Given the description of an element on the screen output the (x, y) to click on. 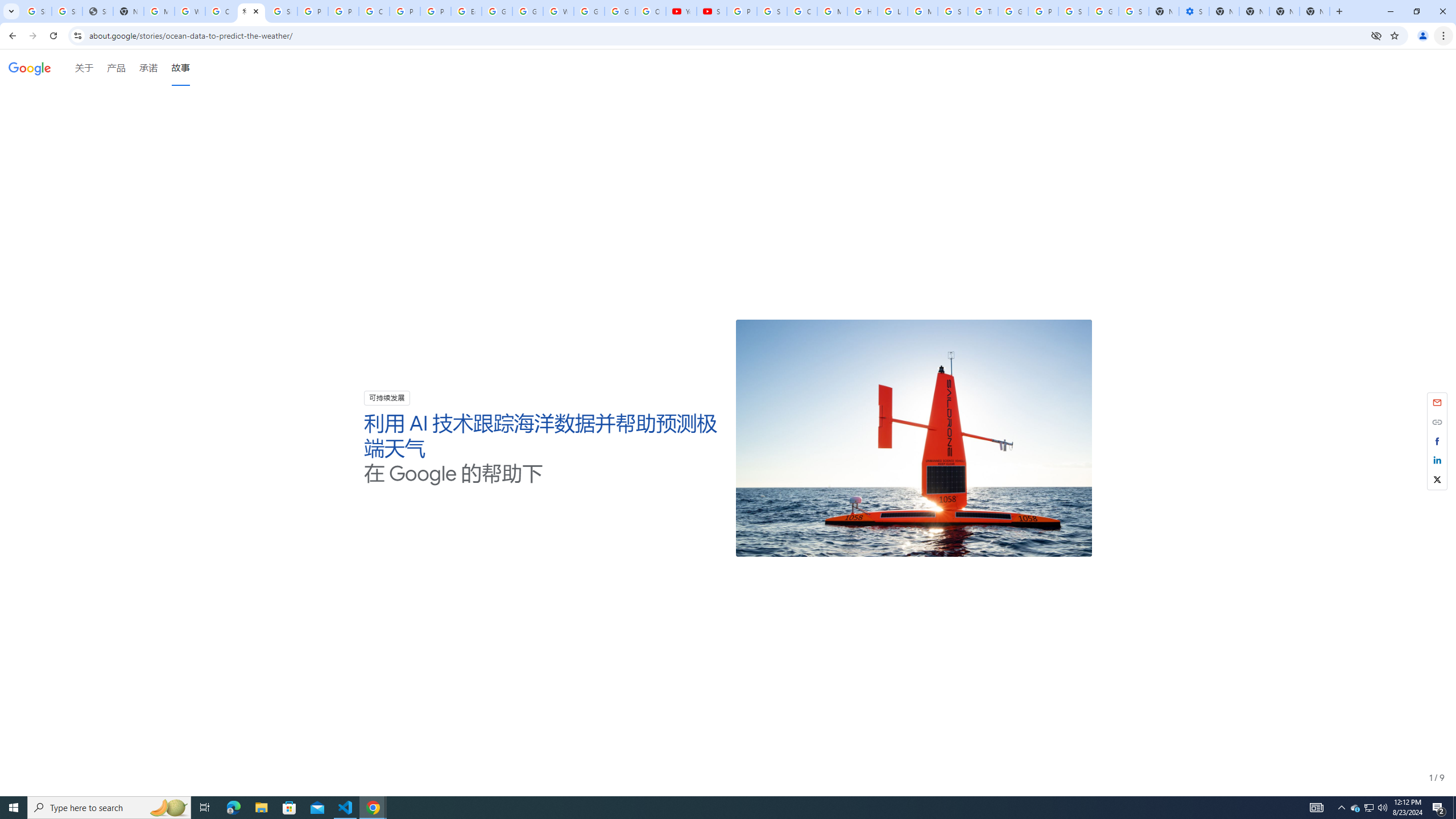
Search our Doodle Library Collection - Google Doodles (952, 11)
New Tab (1314, 11)
Google Slides: Sign-in (496, 11)
Trusted Information and Content - Google Safety Center (982, 11)
